Given the description of an element on the screen output the (x, y) to click on. 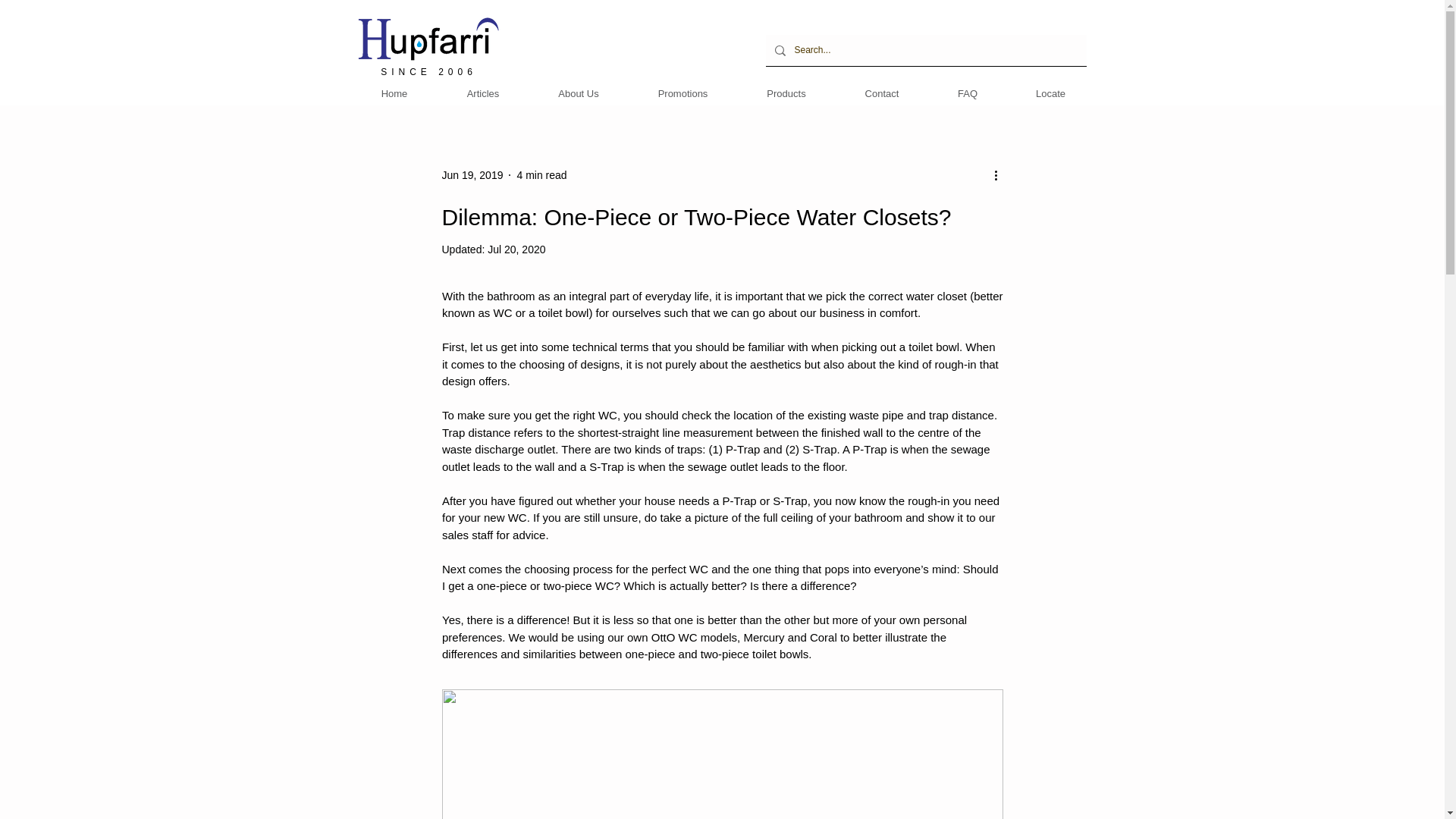
Products (785, 93)
FAQ (967, 93)
Locate (1050, 93)
Promotions (681, 93)
Jul 20, 2020 (515, 249)
About Us (578, 93)
Home (395, 93)
Jun 19, 2019 (471, 174)
Contact (881, 93)
4 min read (541, 174)
Articles (482, 93)
